Given the description of an element on the screen output the (x, y) to click on. 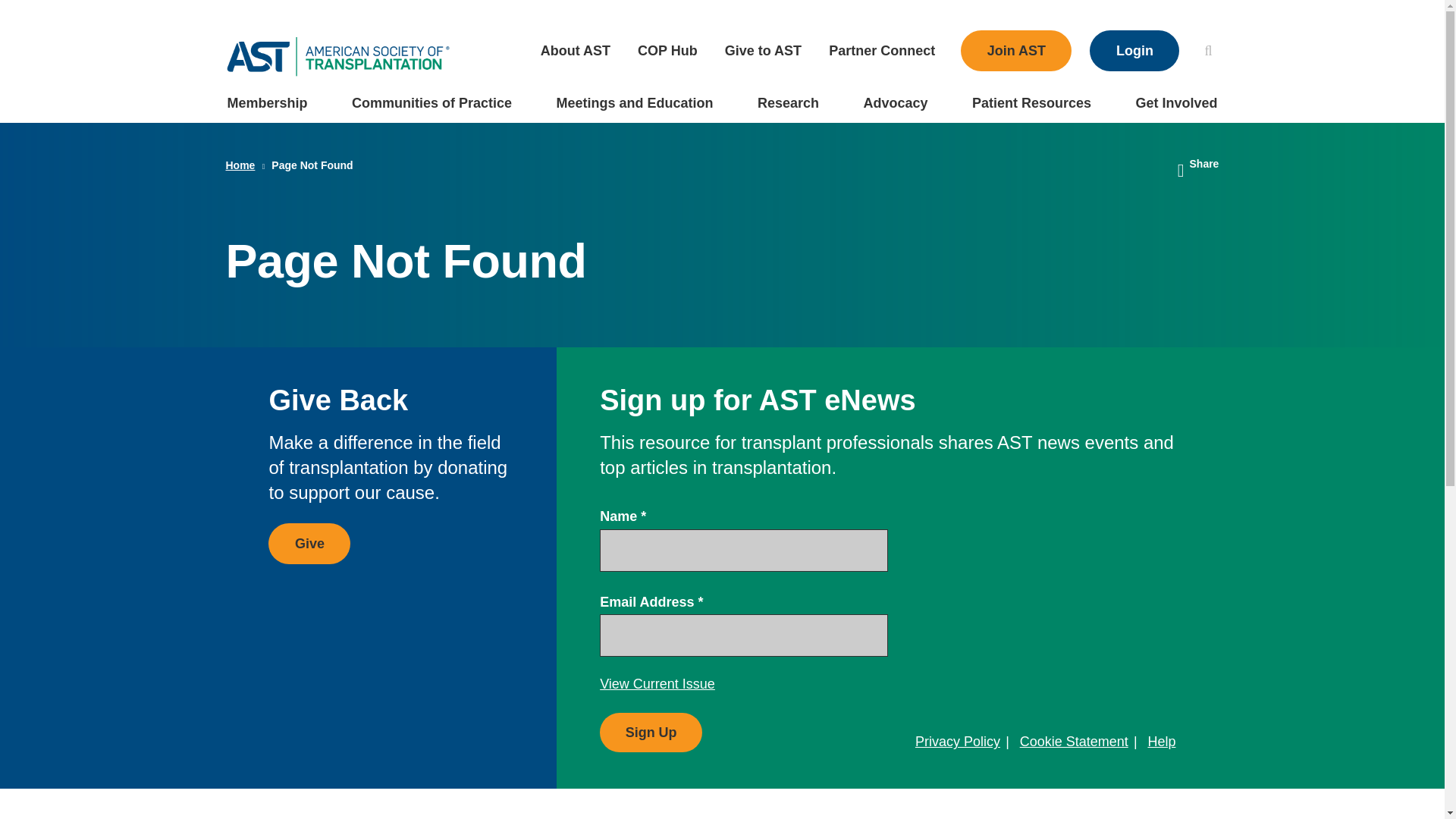
Membership (266, 102)
About AST (575, 50)
Give to AST (763, 50)
Login (1134, 50)
Search (1207, 50)
COP Hub (667, 50)
Communities of Practice (431, 102)
Join AST (1015, 50)
Partner Connect (882, 50)
